Given the description of an element on the screen output the (x, y) to click on. 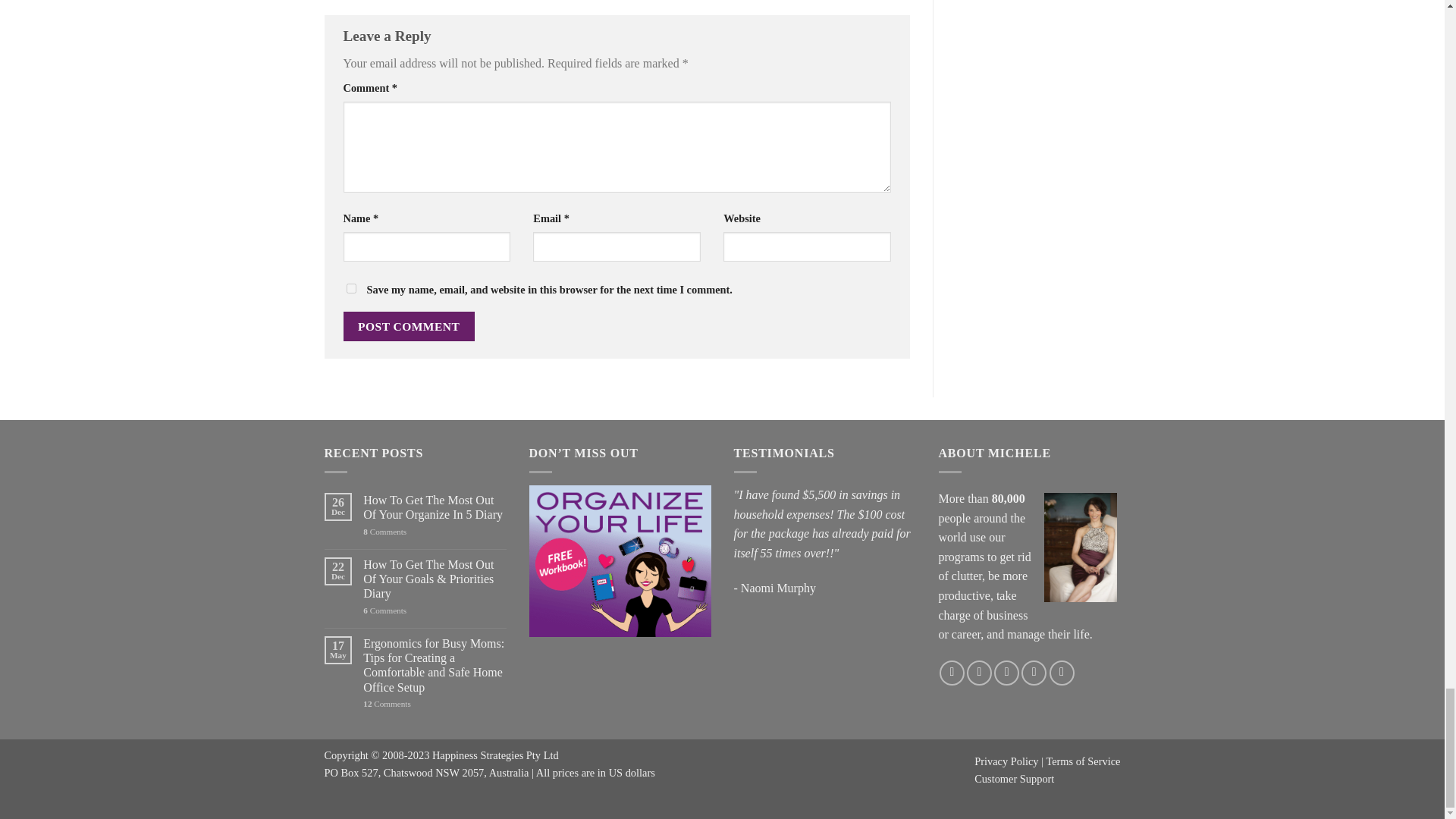
How To Get The Most Out Of Your Organize In 5 Diary (433, 507)
Follow on Facebook (951, 672)
Post Comment (408, 326)
yes (350, 288)
